Given the description of an element on the screen output the (x, y) to click on. 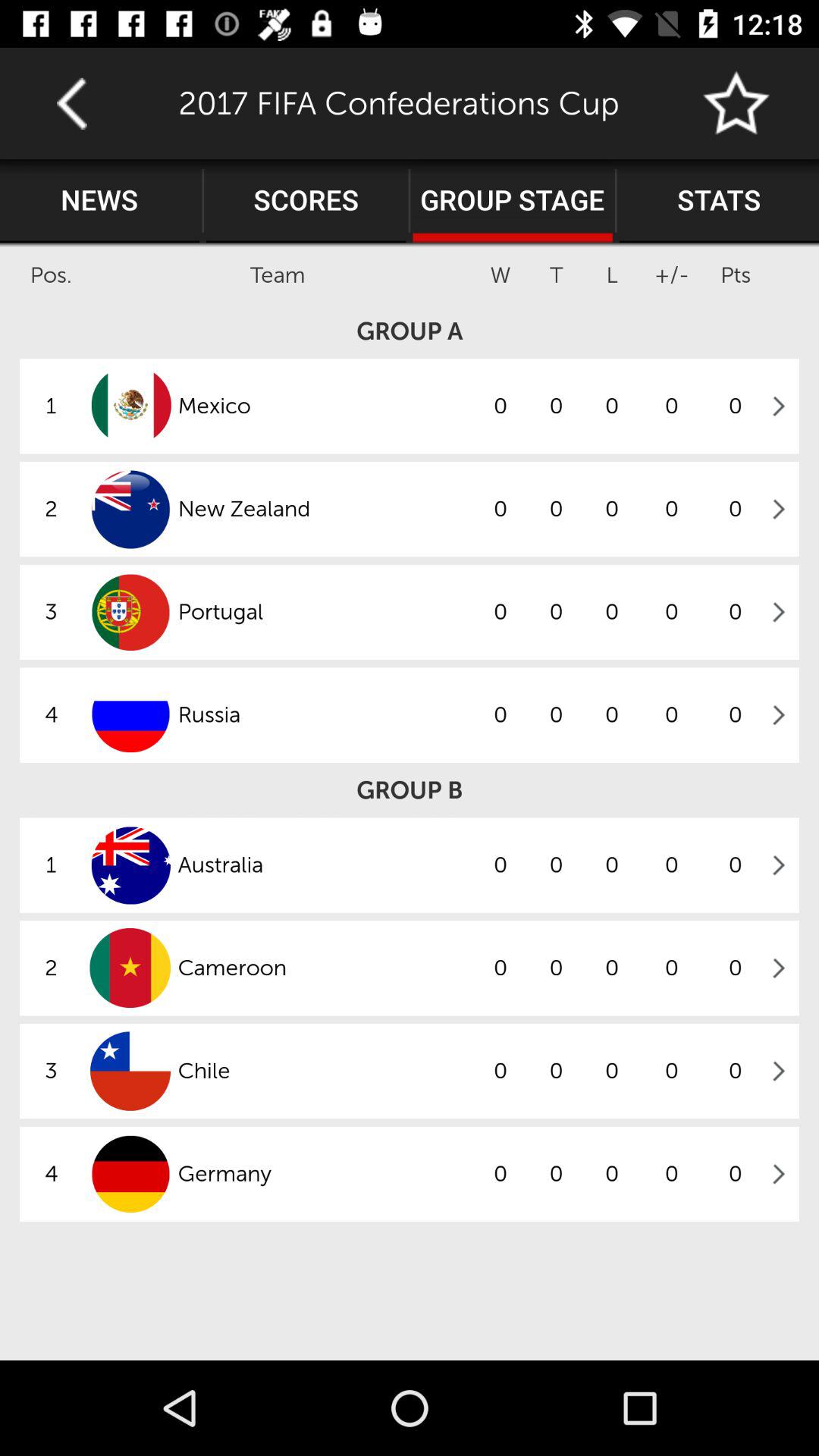
press the item next to 0 icon (325, 1070)
